Given the description of an element on the screen output the (x, y) to click on. 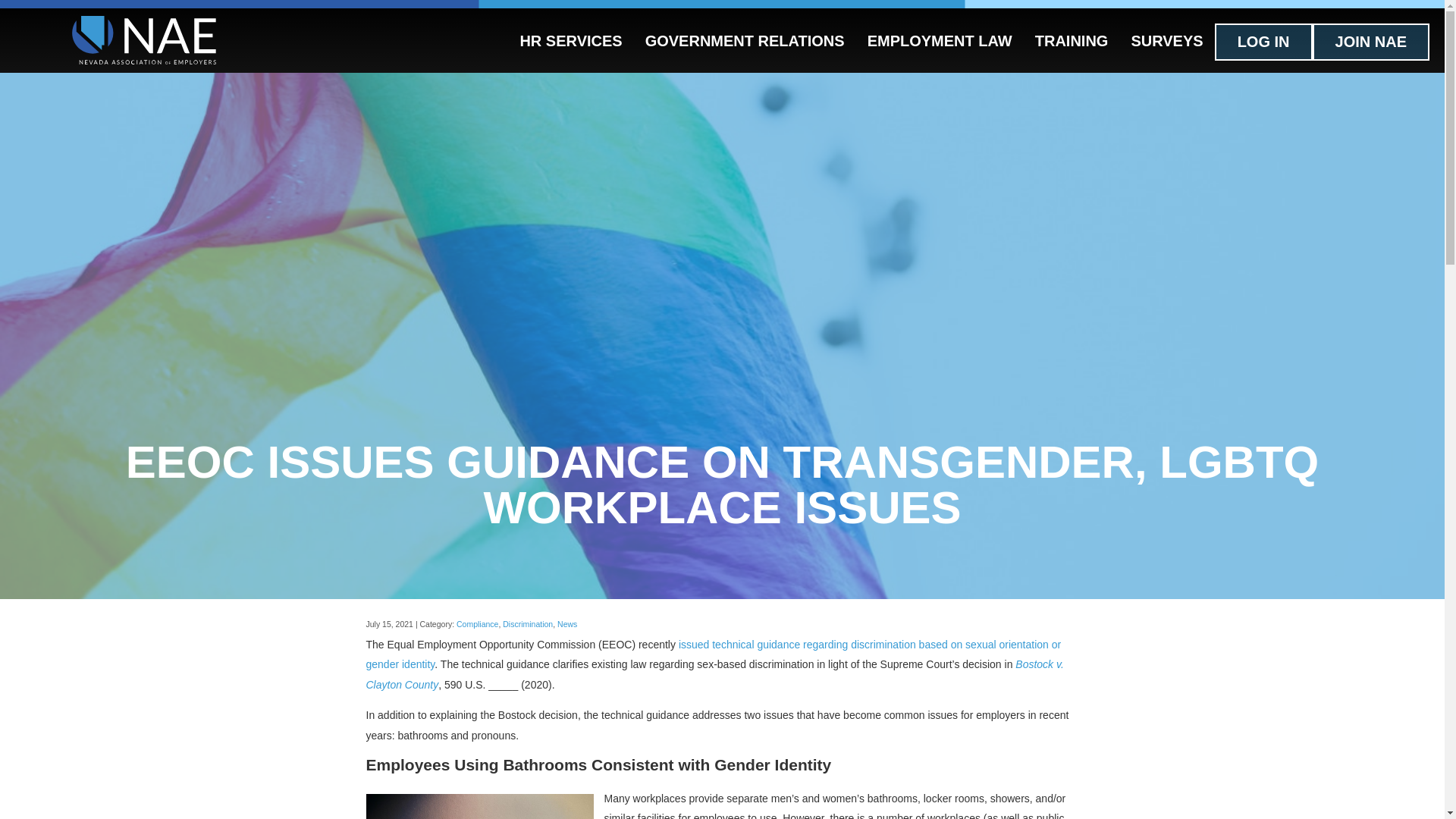
HR SERVICES (570, 40)
EMPLOYMENT LAW (939, 40)
SURVEYS (1166, 40)
GOVERNMENT RELATIONS (744, 40)
LOG IN (1263, 41)
NAE (143, 43)
JOIN NAE (1371, 41)
TRAINING (1071, 40)
